Given the description of an element on the screen output the (x, y) to click on. 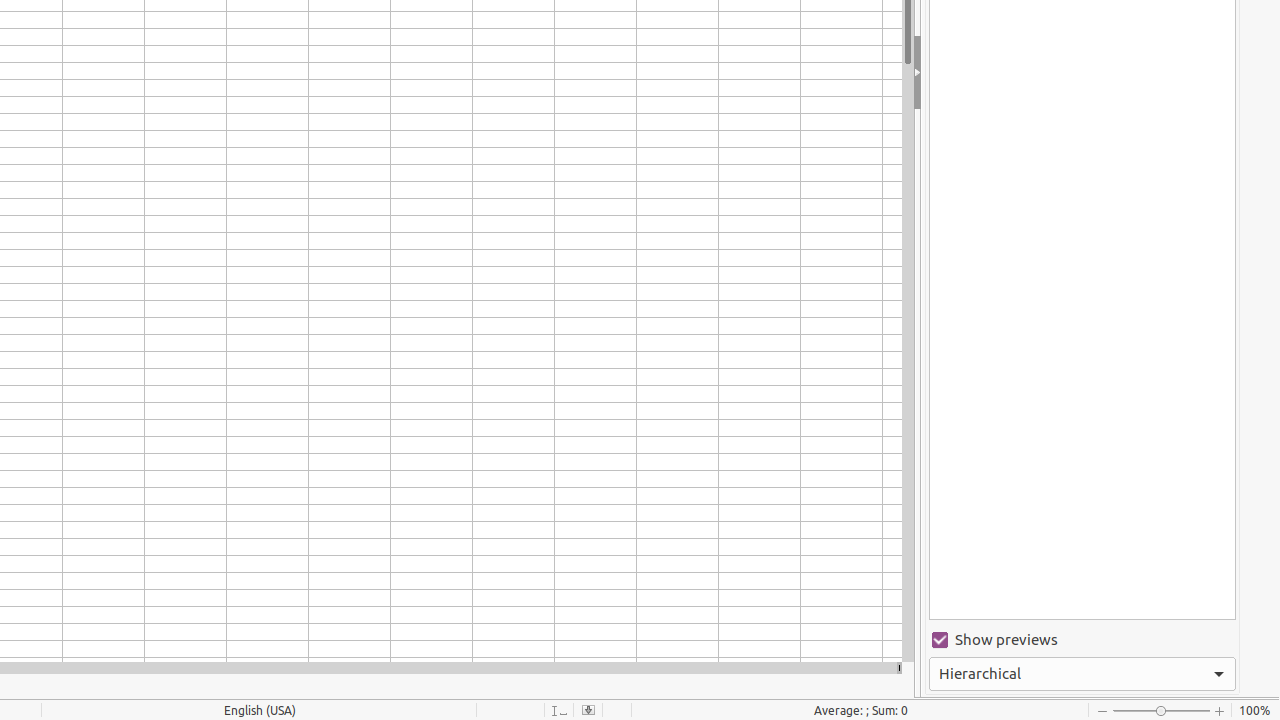
Show previews Element type: check-box (1082, 640)
